Given the description of an element on the screen output the (x, y) to click on. 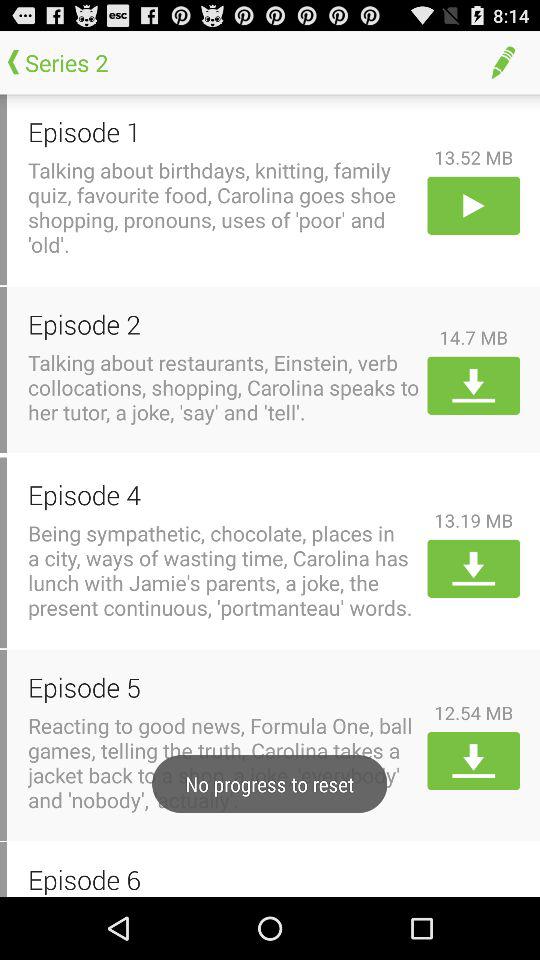
turn on the 14.7 mb app (473, 337)
